Given the description of an element on the screen output the (x, y) to click on. 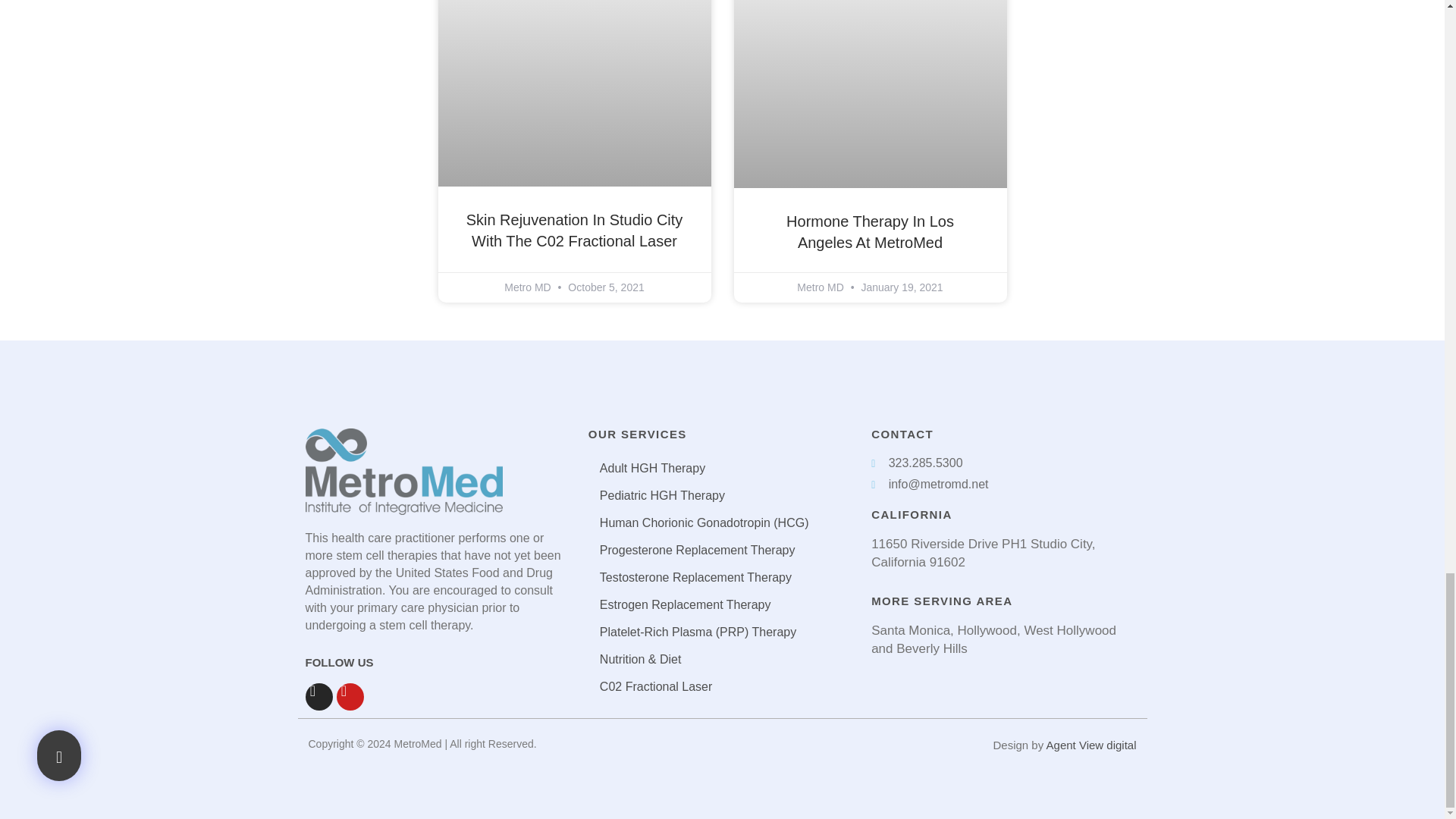
Progesterone Replacement Therapy (722, 550)
Pediatric HGH Therapy (722, 495)
Hormone Therapy In Los Angeles At MetroMed (869, 231)
Adult HGH Therapy (722, 468)
